Given the description of an element on the screen output the (x, y) to click on. 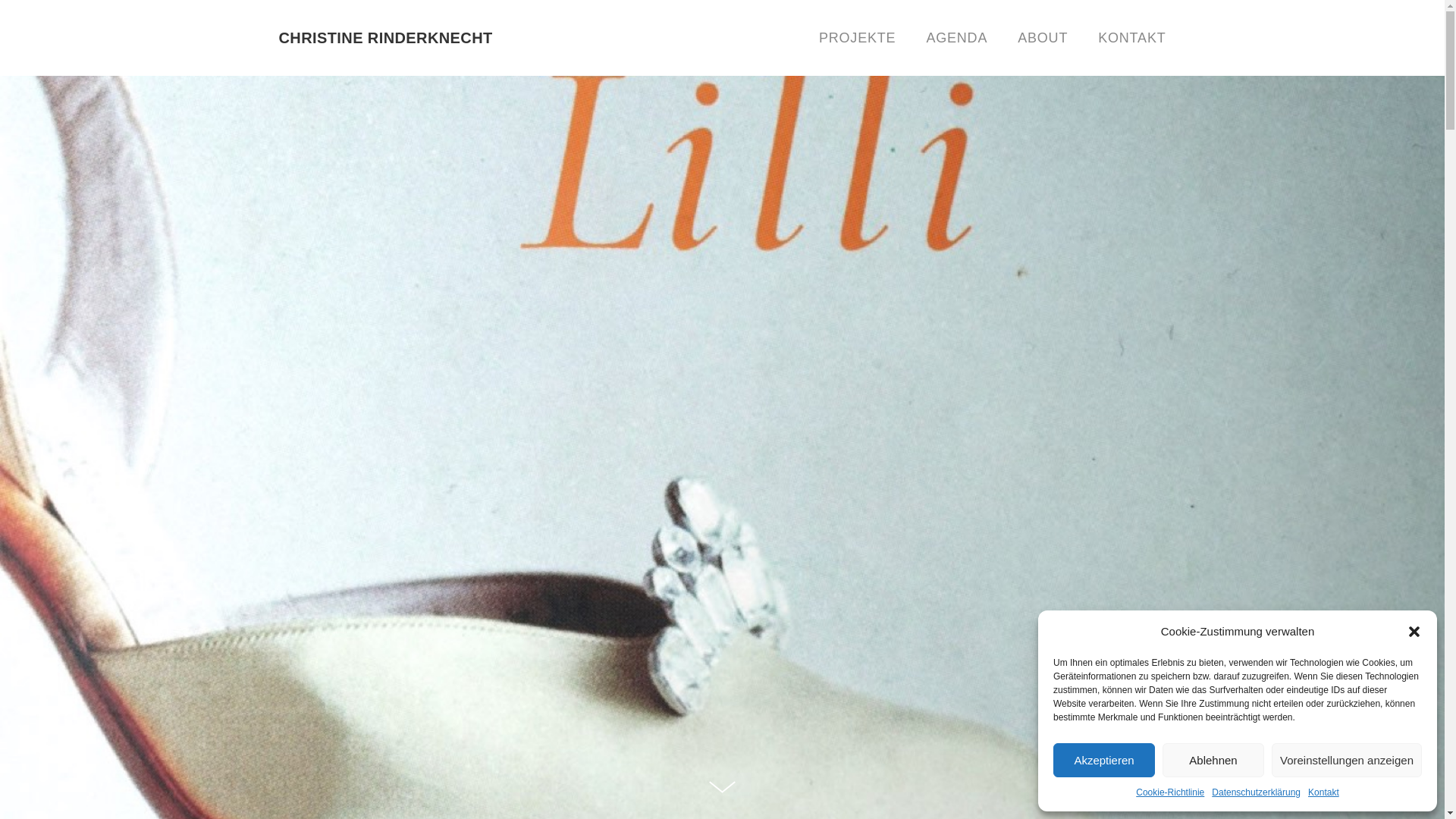
Ablehnen Element type: text (1213, 760)
KONTAKT Element type: text (1123, 37)
AGENDA Element type: text (956, 37)
PROJEKTE Element type: text (864, 37)
Kontakt Element type: text (1323, 792)
Akzeptieren Element type: text (1103, 760)
ABOUT Element type: text (1042, 37)
CHRISTINE RINDERKNECHT Element type: text (385, 37)
Cookie-Richtlinie Element type: text (1169, 792)
Voreinstellungen anzeigen Element type: text (1346, 760)
